Given the description of an element on the screen output the (x, y) to click on. 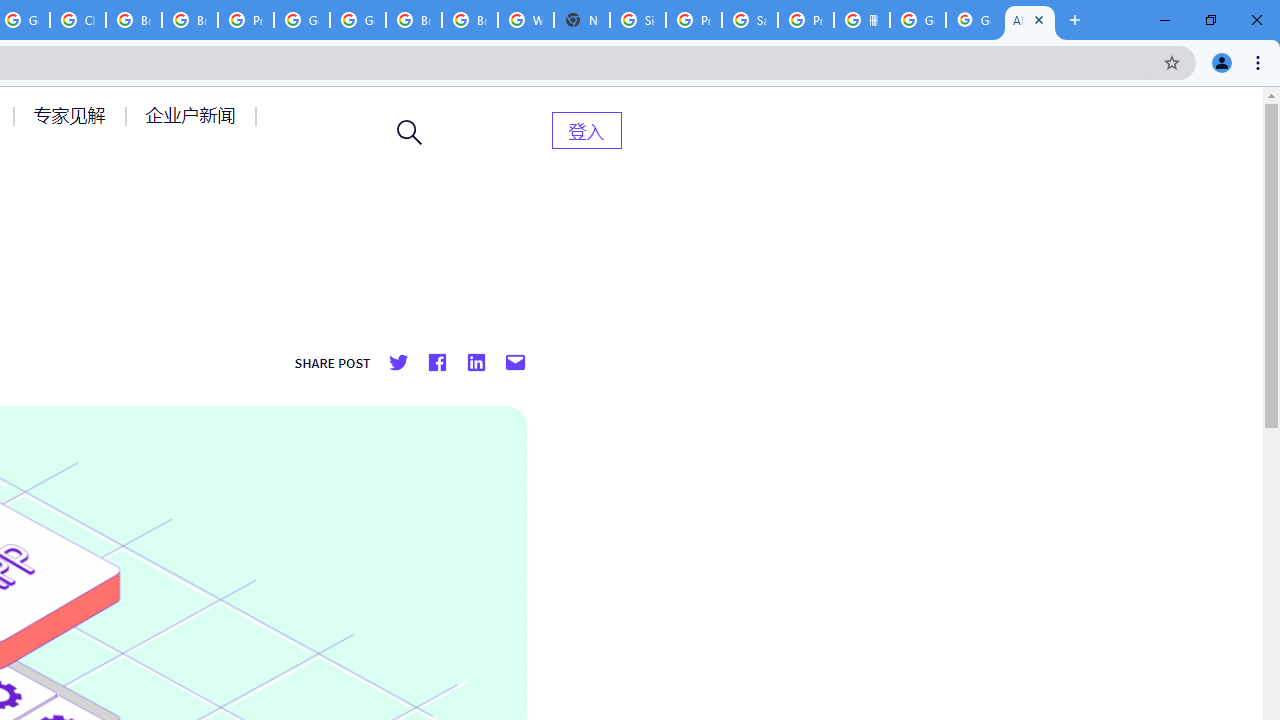
Open search form (410, 132)
Google Cloud Platform (358, 20)
Browse Chrome as a guest - Computer - Google Chrome Help (134, 20)
Browse Chrome as a guest - Computer - Google Chrome Help (413, 20)
AutomationID: menu-item-77765 (194, 115)
Google Cloud Platform (301, 20)
